Given the description of an element on the screen output the (x, y) to click on. 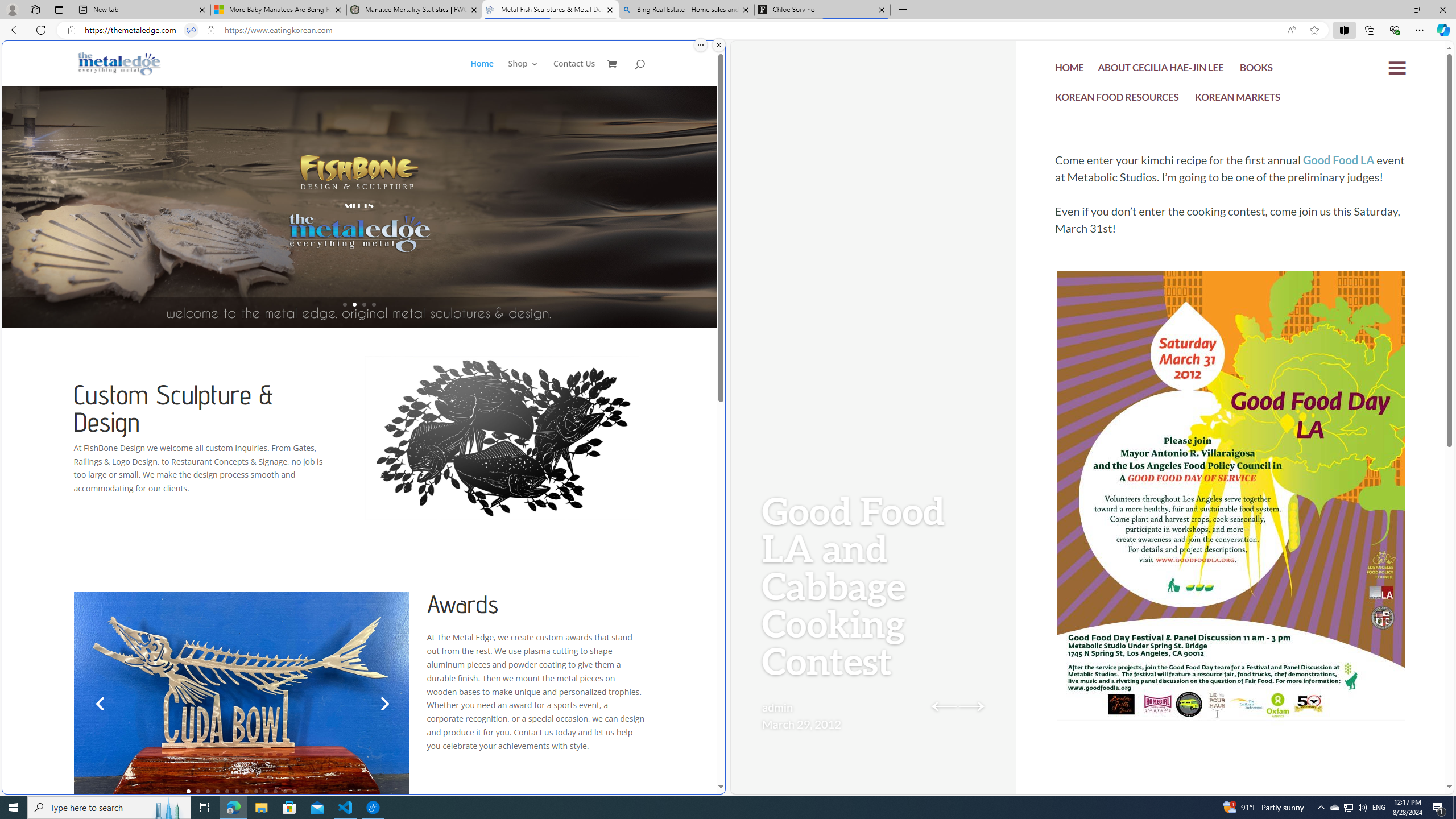
KOREAN MARKETS (1237, 98)
1 (188, 790)
good food la poster (1231, 530)
HOME (1069, 70)
HOME (1069, 68)
6 (236, 790)
4 (217, 790)
Address and search bar (680, 29)
Manatee Mortality Statistics | FWC (414, 9)
9 (265, 790)
App bar (728, 29)
BOOKS (1256, 70)
